Given the description of an element on the screen output the (x, y) to click on. 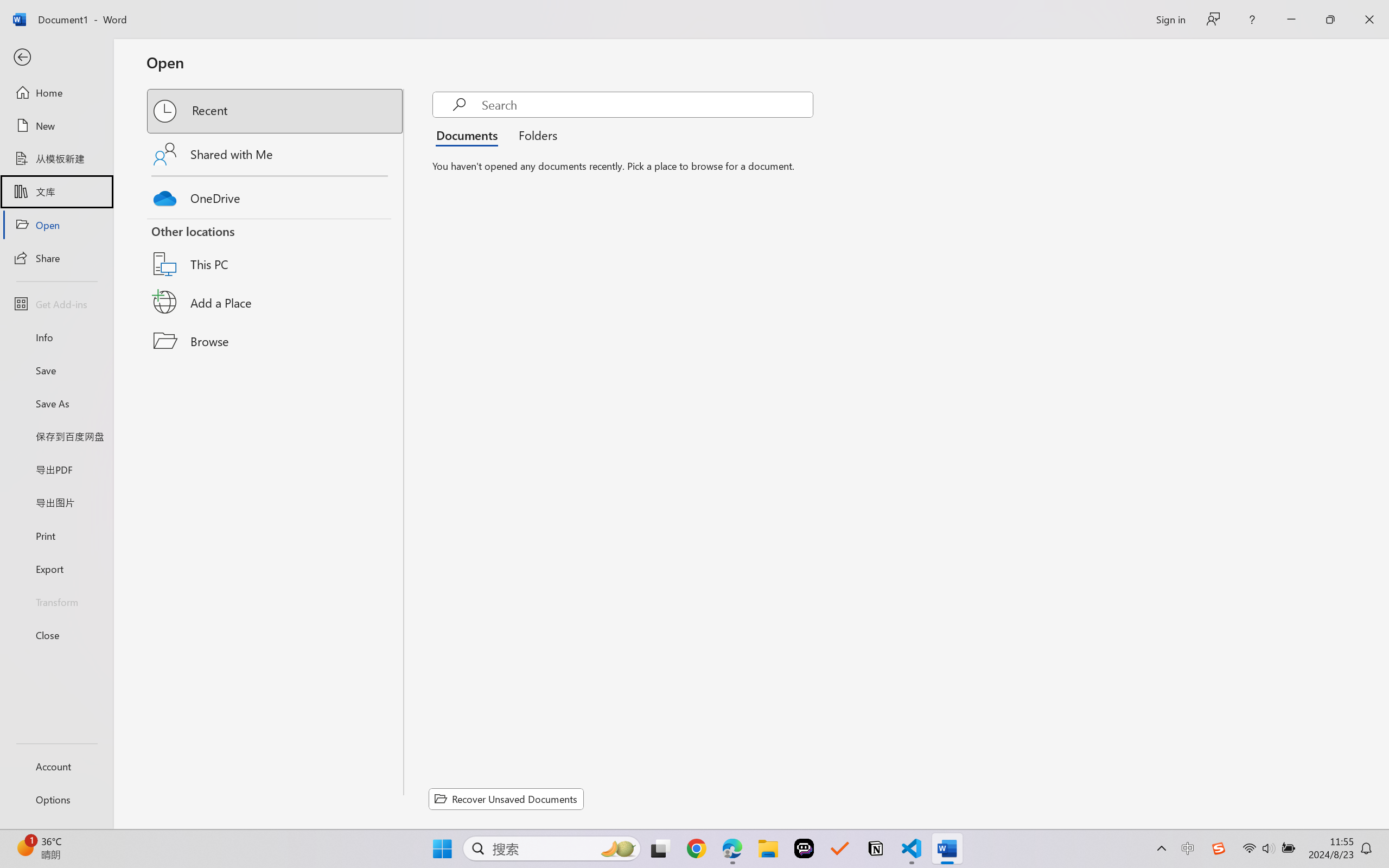
Print (56, 535)
Recover Unsaved Documents (506, 798)
Add a Place (275, 302)
Browse (275, 340)
Recent (275, 110)
Shared with Me (275, 153)
Back (56, 57)
